Given the description of an element on the screen output the (x, y) to click on. 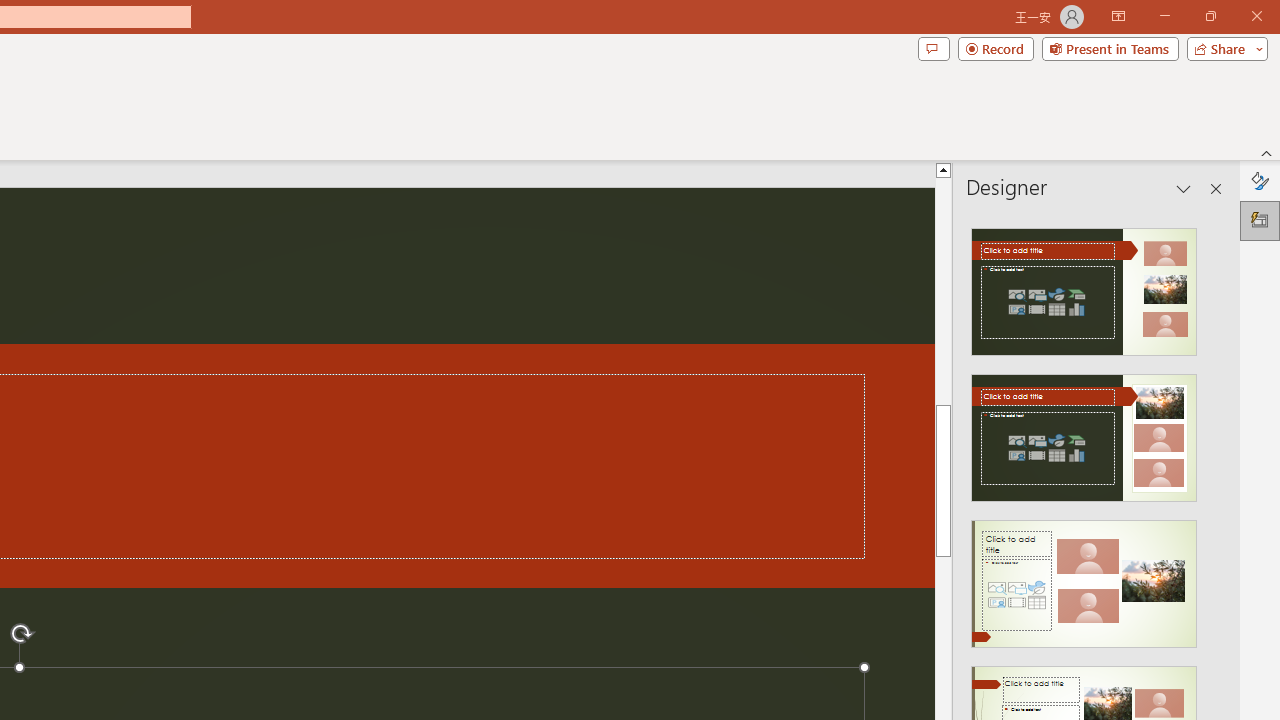
Recommended Design: Design Idea (1083, 286)
Format Background (1260, 180)
